Given the description of an element on the screen output the (x, y) to click on. 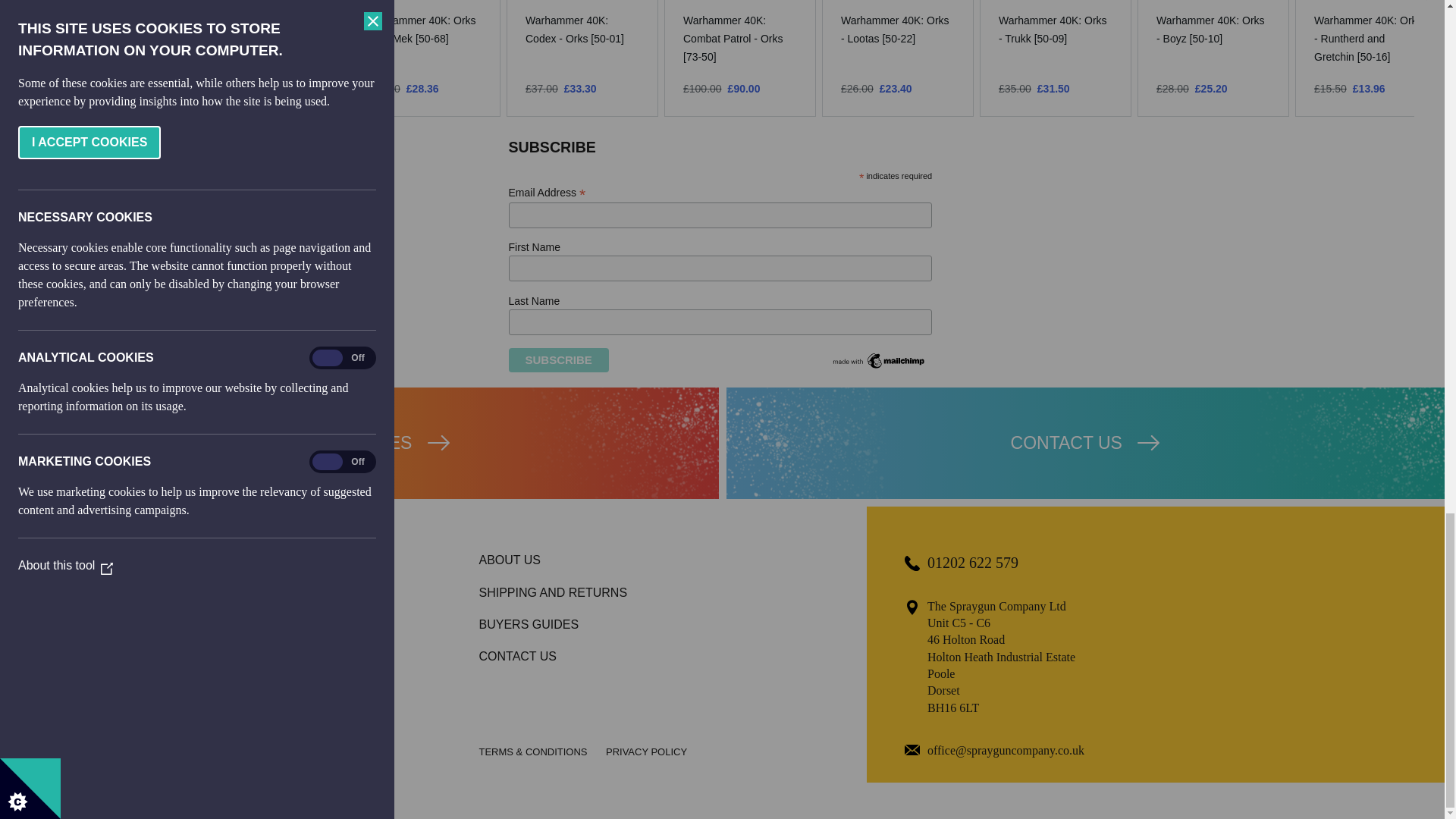
Subscribe (558, 360)
Mailchimp - email marketing made easy and fun (880, 367)
